Given the description of an element on the screen output the (x, y) to click on. 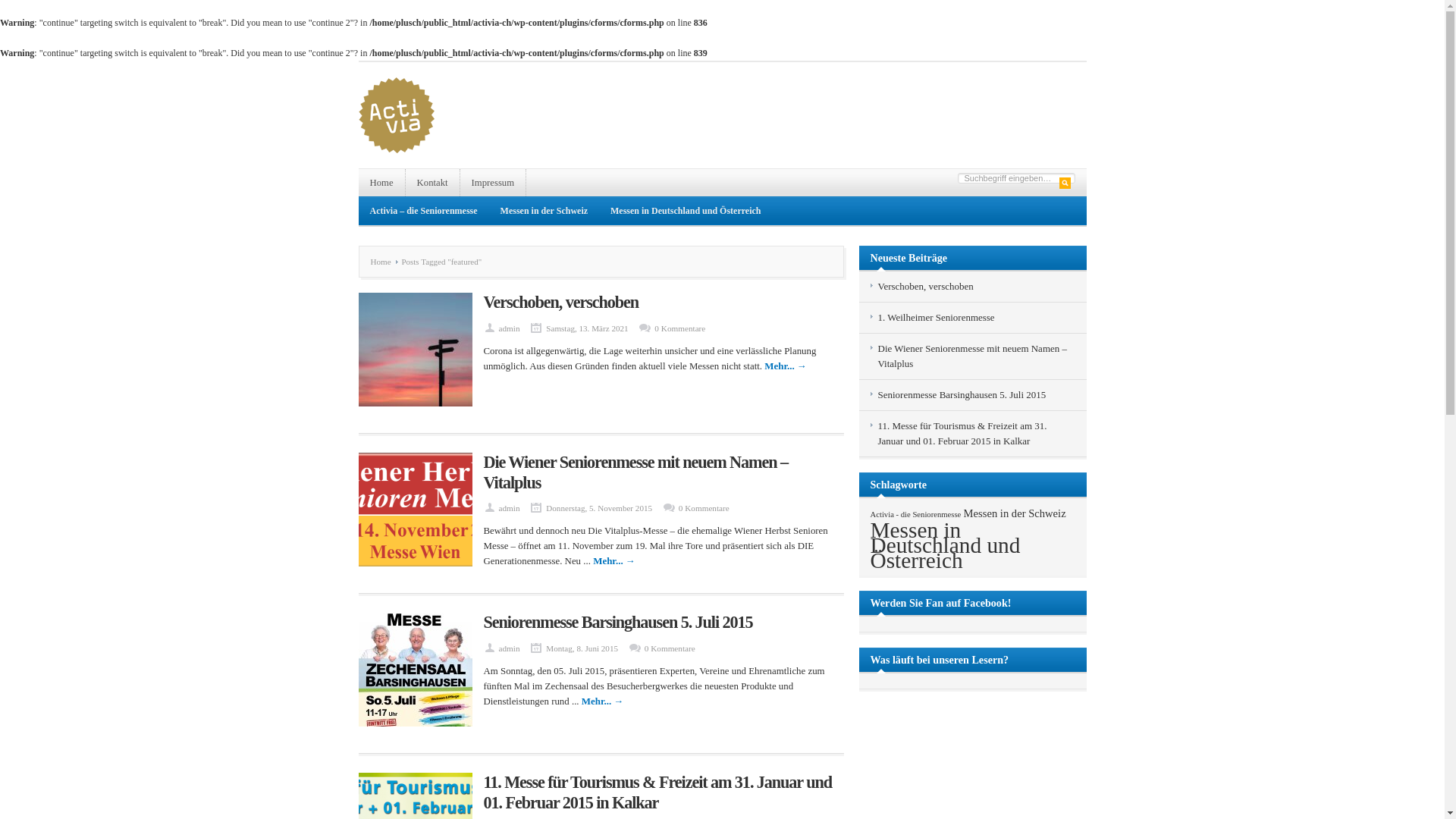
admin Element type: text (509, 327)
Activia - die Seniorenmesse Element type: text (915, 514)
Verschoben, verschoben Element type: text (925, 285)
0 Kommentare Element type: text (703, 507)
0 Kommentare Element type: text (679, 327)
Seniorenmesse Barsinghausen 5. Juli 2015 Element type: text (618, 621)
0 Kommentare Element type: text (669, 647)
Impressum Element type: text (493, 182)
admin Element type: text (509, 507)
Seniorenmesse Barsinghausen 5. Juli 2015 Element type: text (962, 394)
Messen in der Schweiz Element type: text (544, 210)
Home Element type: text (380, 182)
Verschoben, verschoben Element type: text (561, 301)
Home Element type: text (384, 261)
Messen in der Schweiz Element type: text (1014, 513)
Kontakt Element type: text (432, 182)
1. Weilheimer Seniorenmesse Element type: text (936, 317)
admin Element type: text (509, 647)
